Given the description of an element on the screen output the (x, y) to click on. 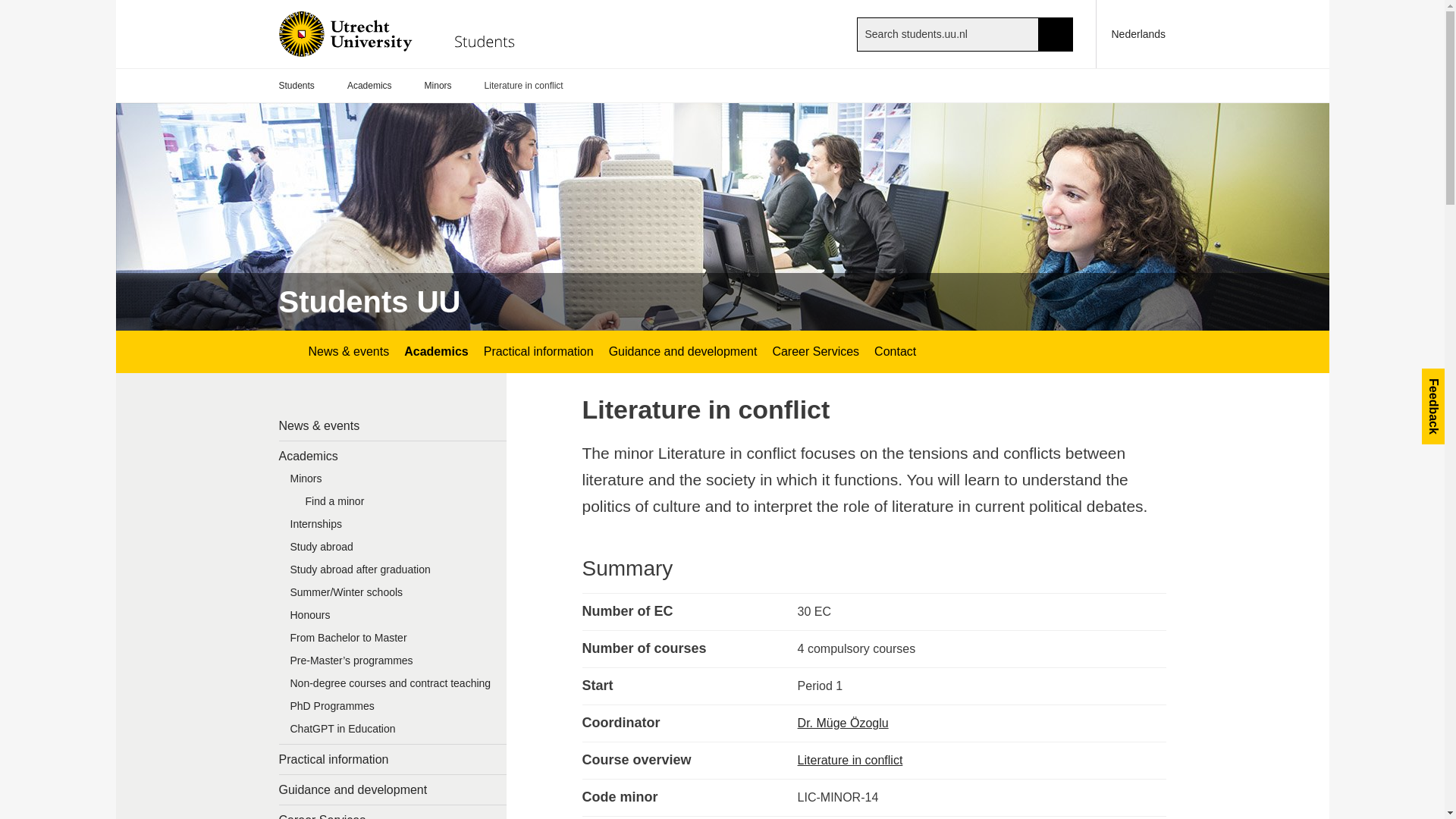
Contact (894, 351)
Skip to main content (7, 7)
Home (408, 33)
Study abroad (392, 549)
Academics (436, 351)
Practical information (538, 351)
Non-degree courses and contract teaching (392, 686)
Academics (392, 455)
Practical information (392, 758)
Guidance and development (683, 351)
Find a minor (400, 504)
Honours (392, 618)
Internships (392, 527)
ChatGPT in Education (392, 732)
